Given the description of an element on the screen output the (x, y) to click on. 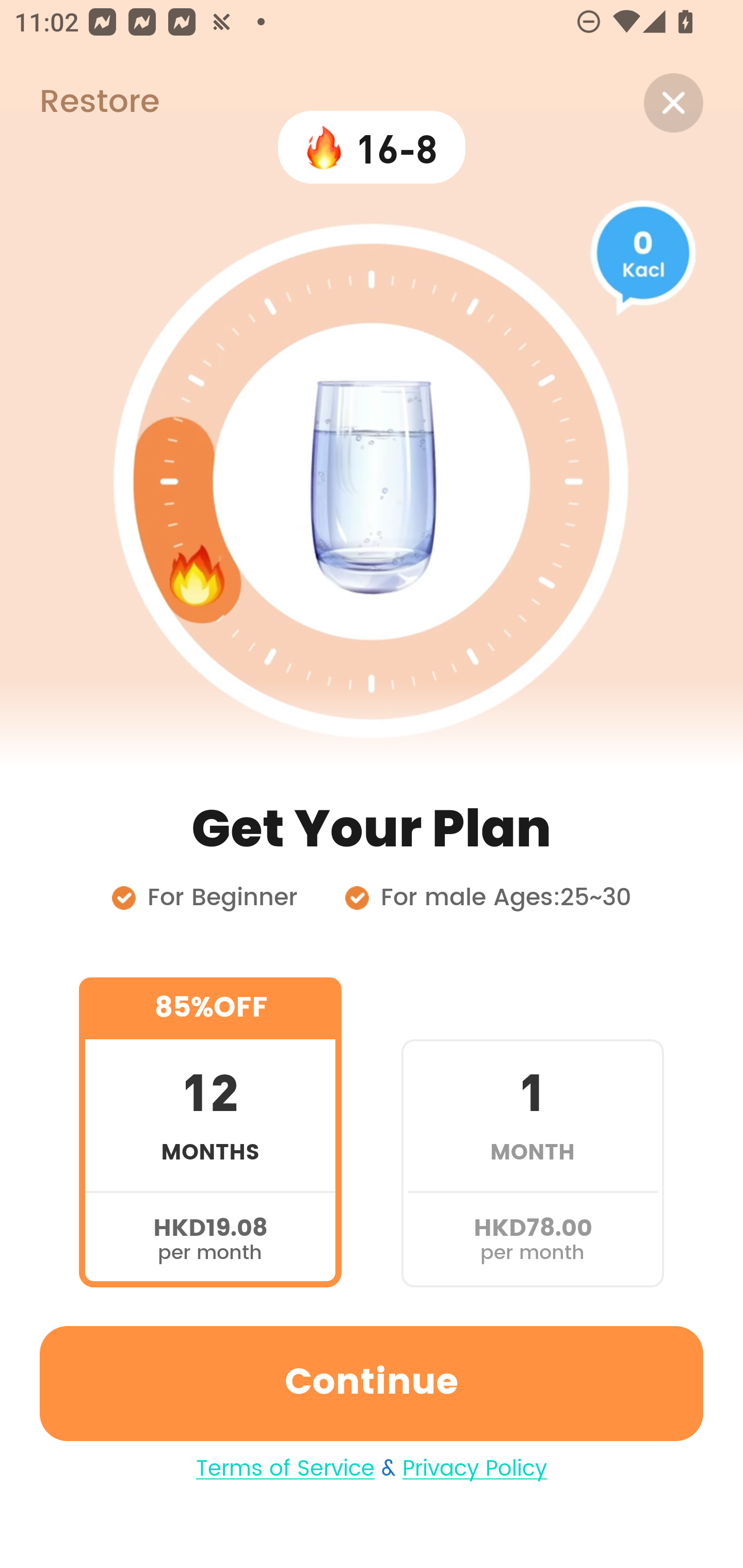
Restore (79, 102)
85%OFF 12 MONTHS per month HKD19.08 (209, 1131)
1 MONTH per month HKD78.00 (532, 1131)
Continue (371, 1383)
